Given the description of an element on the screen output the (x, y) to click on. 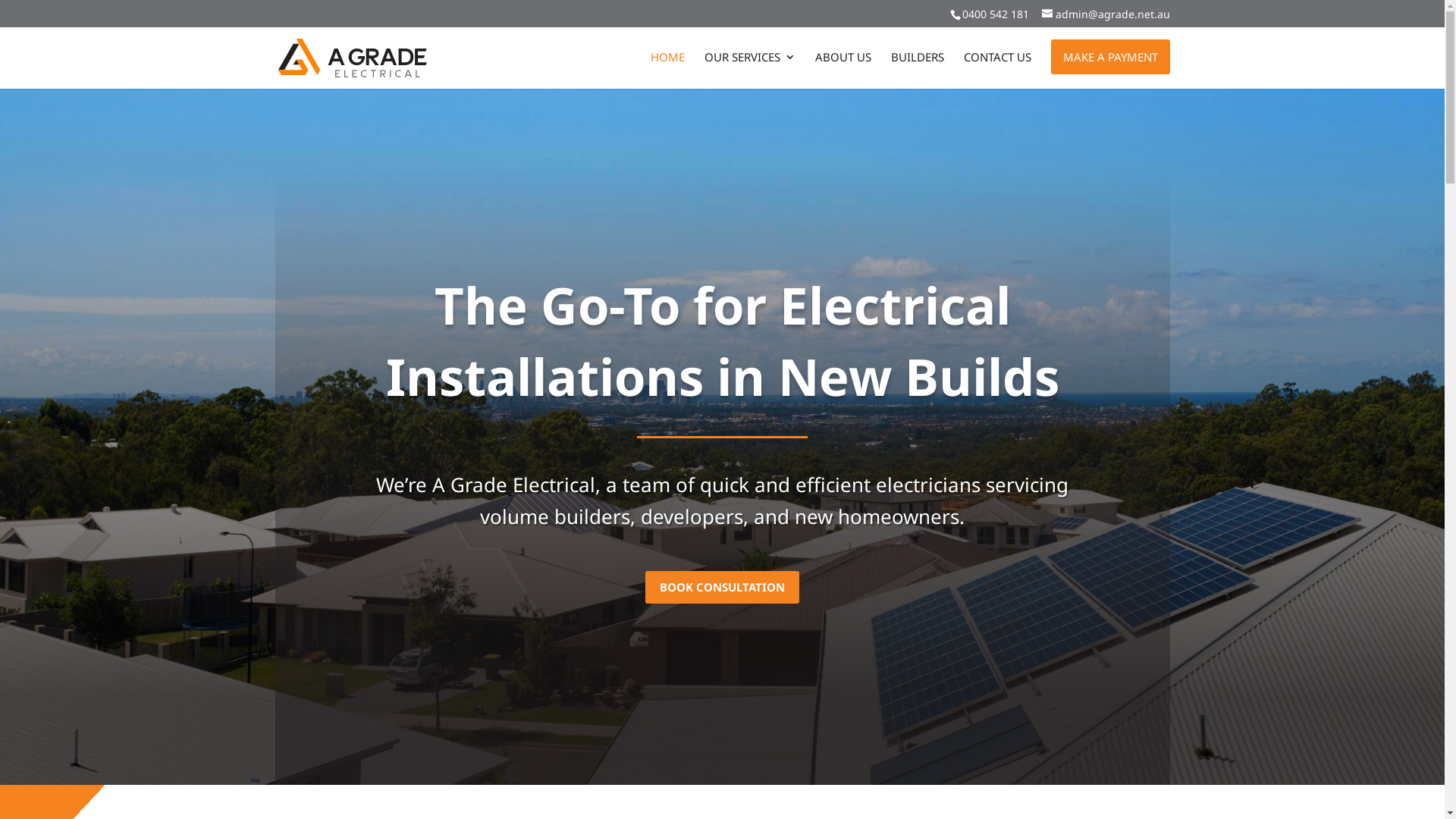
BOOK CONSULTATION Element type: text (722, 587)
ABOUT US Element type: text (842, 69)
CONTACT US Element type: text (996, 69)
MAKE A PAYMENT Element type: text (1110, 56)
BUILDERS Element type: text (916, 69)
HOME Element type: text (667, 69)
0400 542 181 Element type: text (994, 13)
OUR SERVICES Element type: text (748, 69)
admin@agrade.net.au Element type: text (1105, 13)
